Given the description of an element on the screen output the (x, y) to click on. 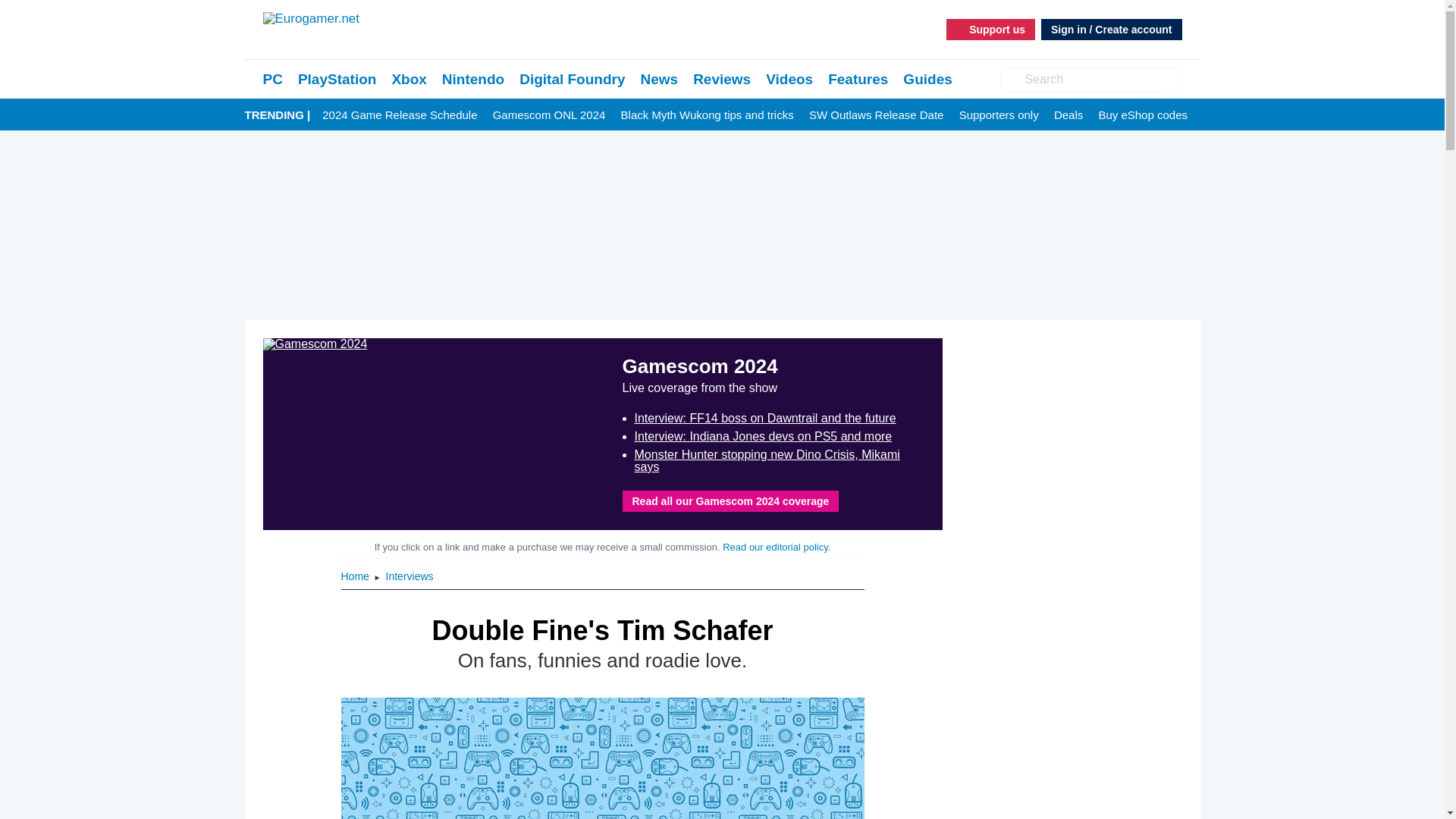
Deals (1068, 114)
Gamescom 2024 (433, 433)
Nintendo (472, 78)
Supporters only (999, 114)
Features (858, 78)
Read our editorial policy (775, 546)
SW Outlaws Release Date (876, 114)
Features (858, 78)
PlayStation (336, 78)
Reviews (722, 78)
